Given the description of an element on the screen output the (x, y) to click on. 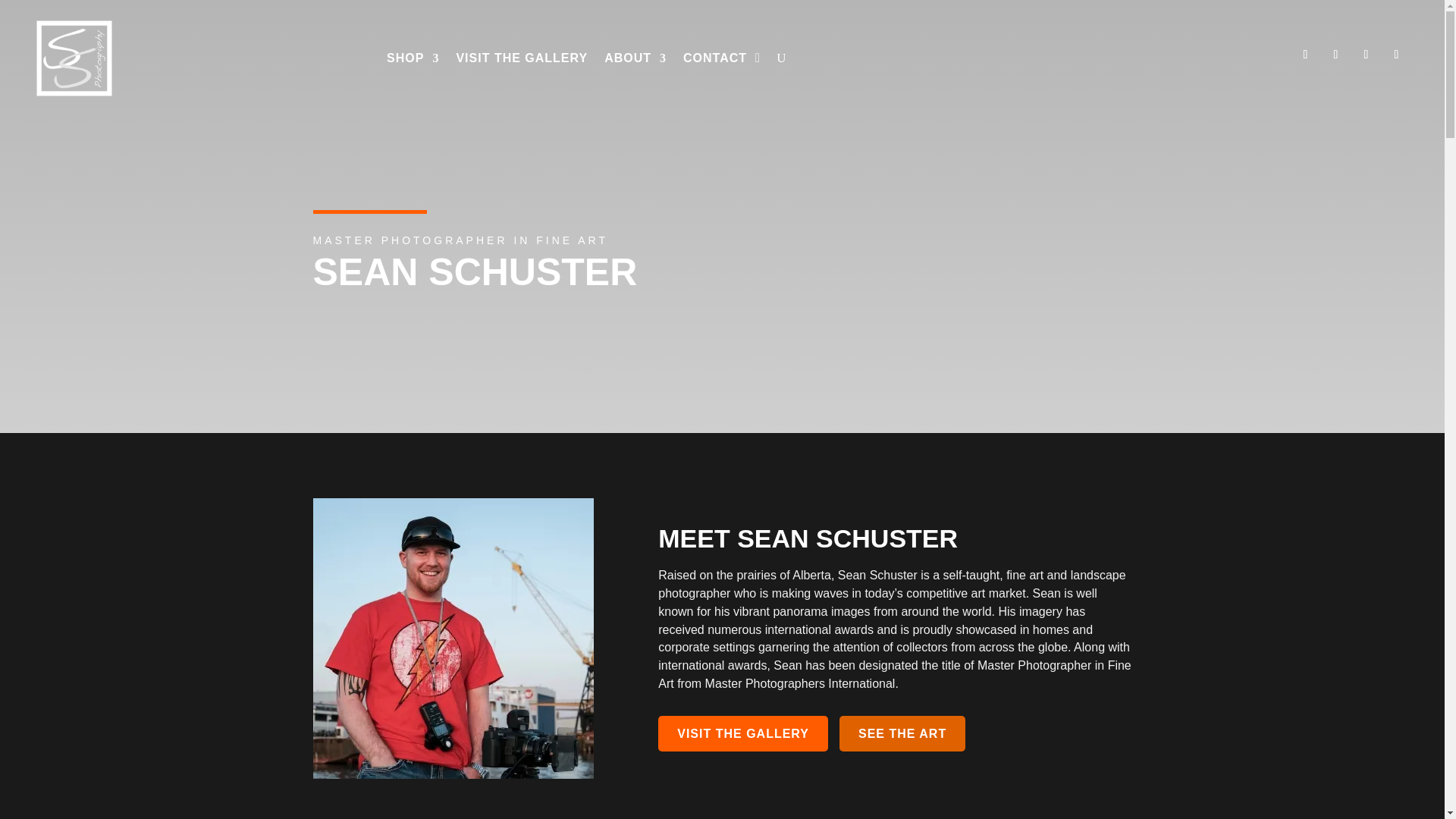
Follow on X (1335, 54)
VISIT THE GALLERY (521, 58)
Sean-Schuster-self-1-370x370 (452, 637)
Follow on Instagram (1365, 54)
SEE THE ART (902, 733)
VISIT THE GALLERY (743, 733)
Follow on Facebook (1304, 54)
Follow on Flickr (1395, 54)
